Given the description of an element on the screen output the (x, y) to click on. 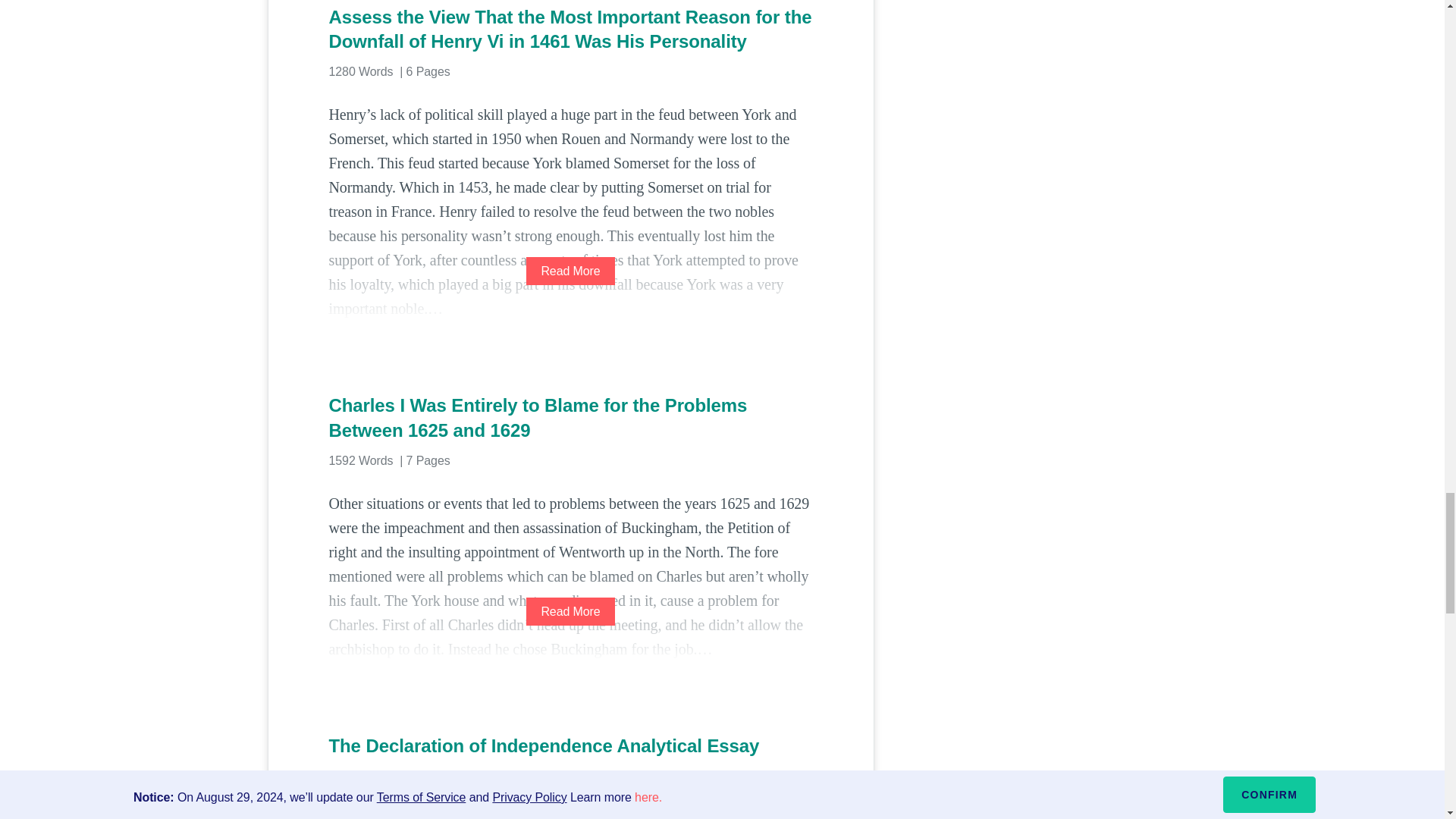
Read More (569, 611)
Read More (569, 271)
The Declaration of Independence Analytical Essay (570, 745)
